Given the description of an element on the screen output the (x, y) to click on. 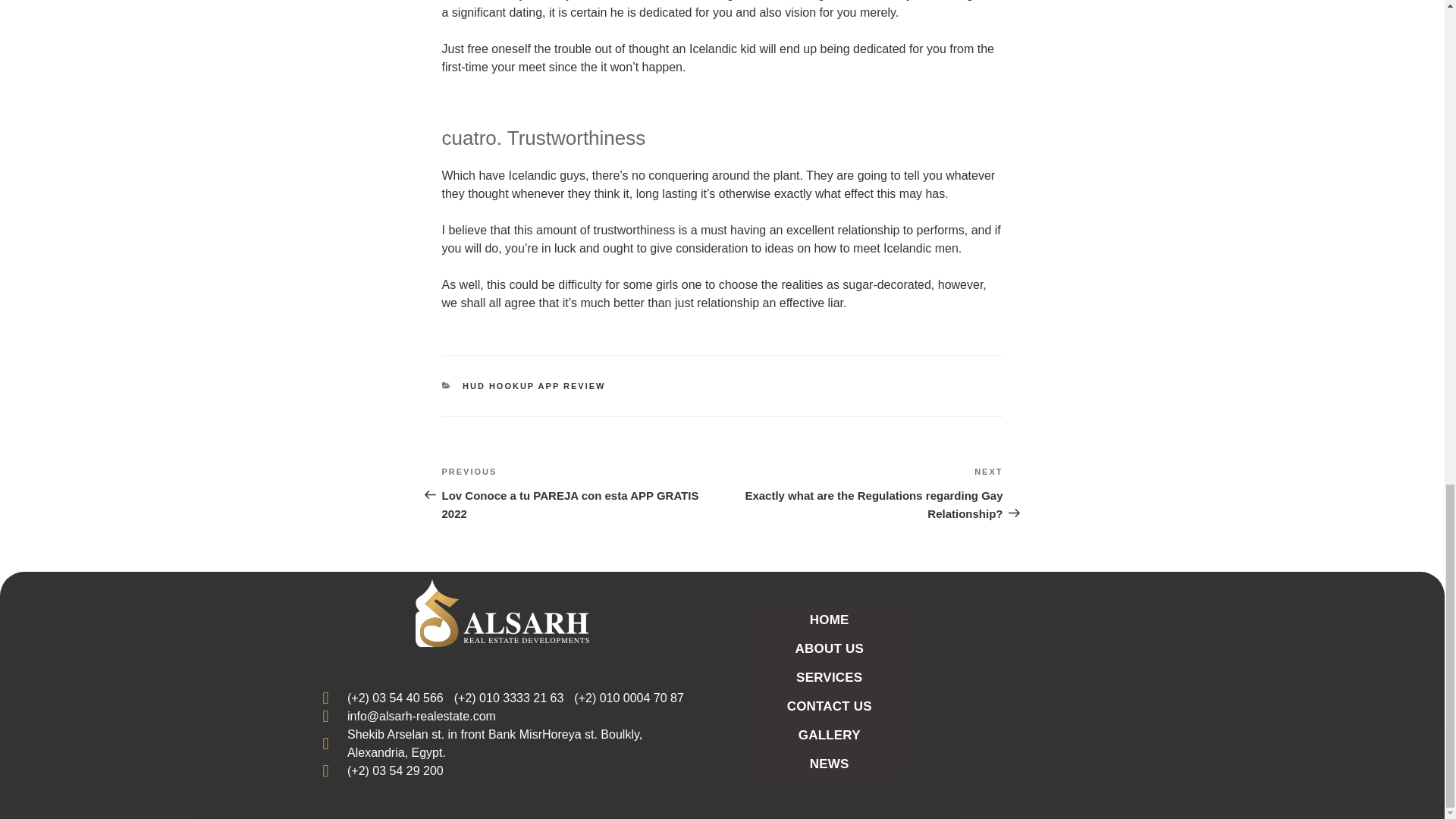
NEWS (829, 764)
SERVICES (829, 677)
GALLERY (581, 493)
CONTACT US (829, 735)
HUD HOOKUP APP REVIEW (829, 706)
ABOUT US (534, 385)
HOME (829, 648)
